Given the description of an element on the screen output the (x, y) to click on. 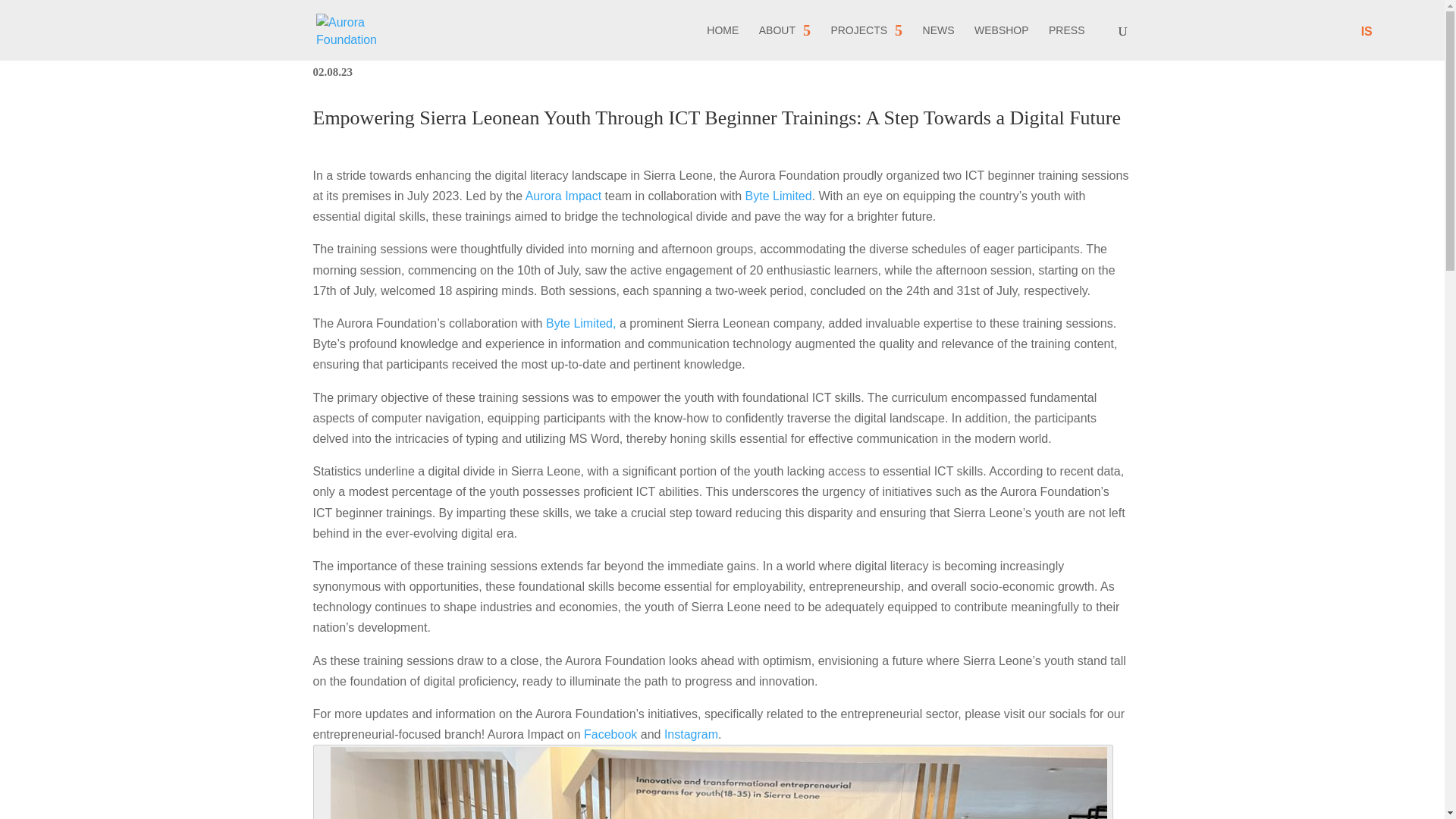
PROJECTS (865, 42)
Byte Limited (778, 195)
HOME (722, 42)
NEWS (939, 42)
Facebook (610, 734)
Instagram (690, 734)
Byte Limited, (580, 323)
ABOUT (784, 42)
WEBSHOP (1001, 42)
Aurora Impact (563, 195)
